Given the description of an element on the screen output the (x, y) to click on. 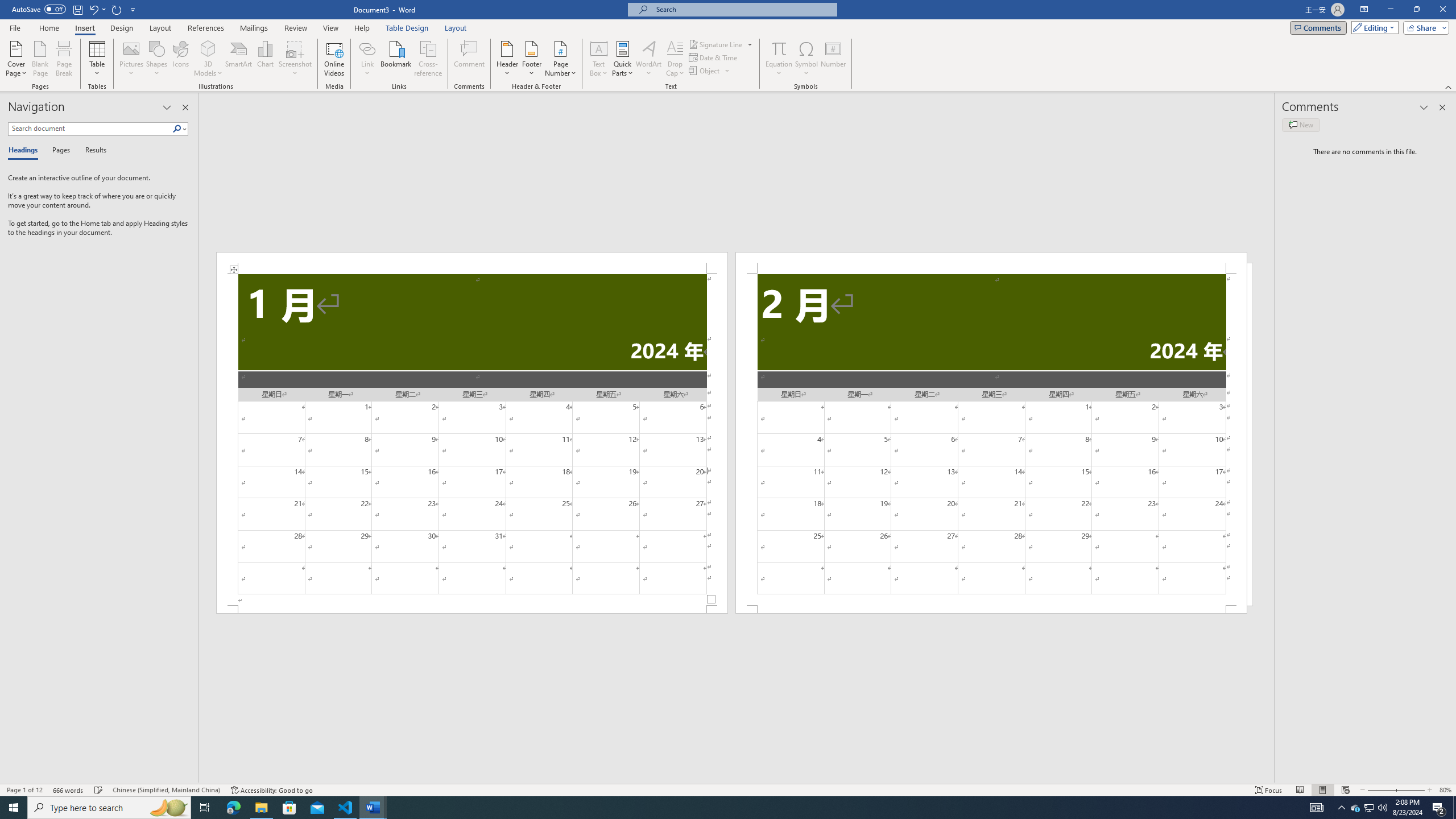
Zoom In (1408, 790)
Page Number Page 1 of 12 (24, 790)
SmartArt... (238, 58)
Pictures (131, 58)
Link (367, 58)
Symbol (806, 58)
Quick Access Toolbar (74, 9)
Bookmark... (396, 58)
Close pane (185, 107)
Chart... (265, 58)
3D Models (208, 58)
Design (122, 28)
Footer (531, 58)
